Given the description of an element on the screen output the (x, y) to click on. 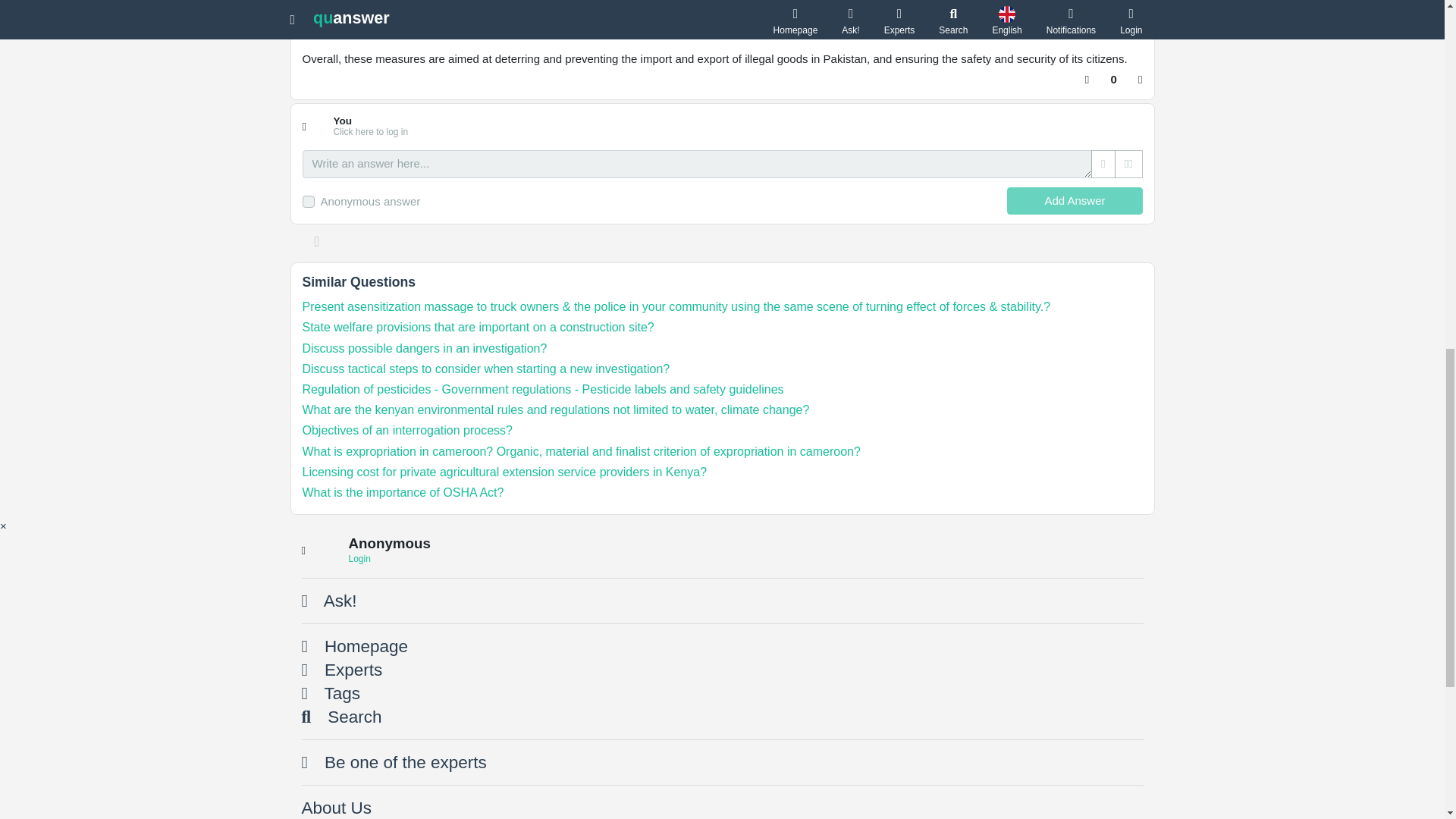
Click here to log in (371, 131)
